Given the description of an element on the screen output the (x, y) to click on. 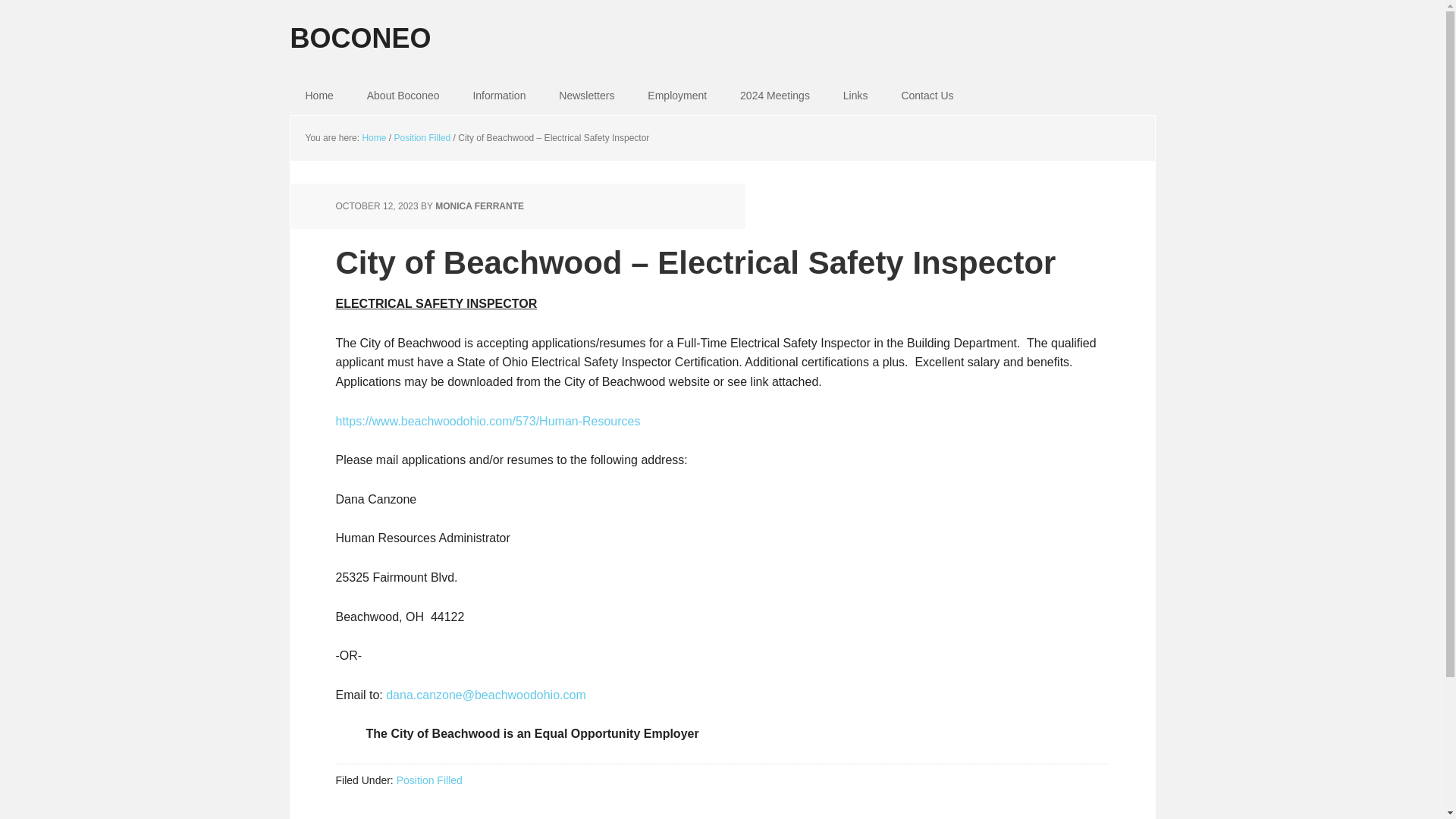
About Boconeo (403, 96)
Newsletters (585, 96)
Home (318, 96)
Information (498, 96)
BOCONEO (721, 27)
